Given the description of an element on the screen output the (x, y) to click on. 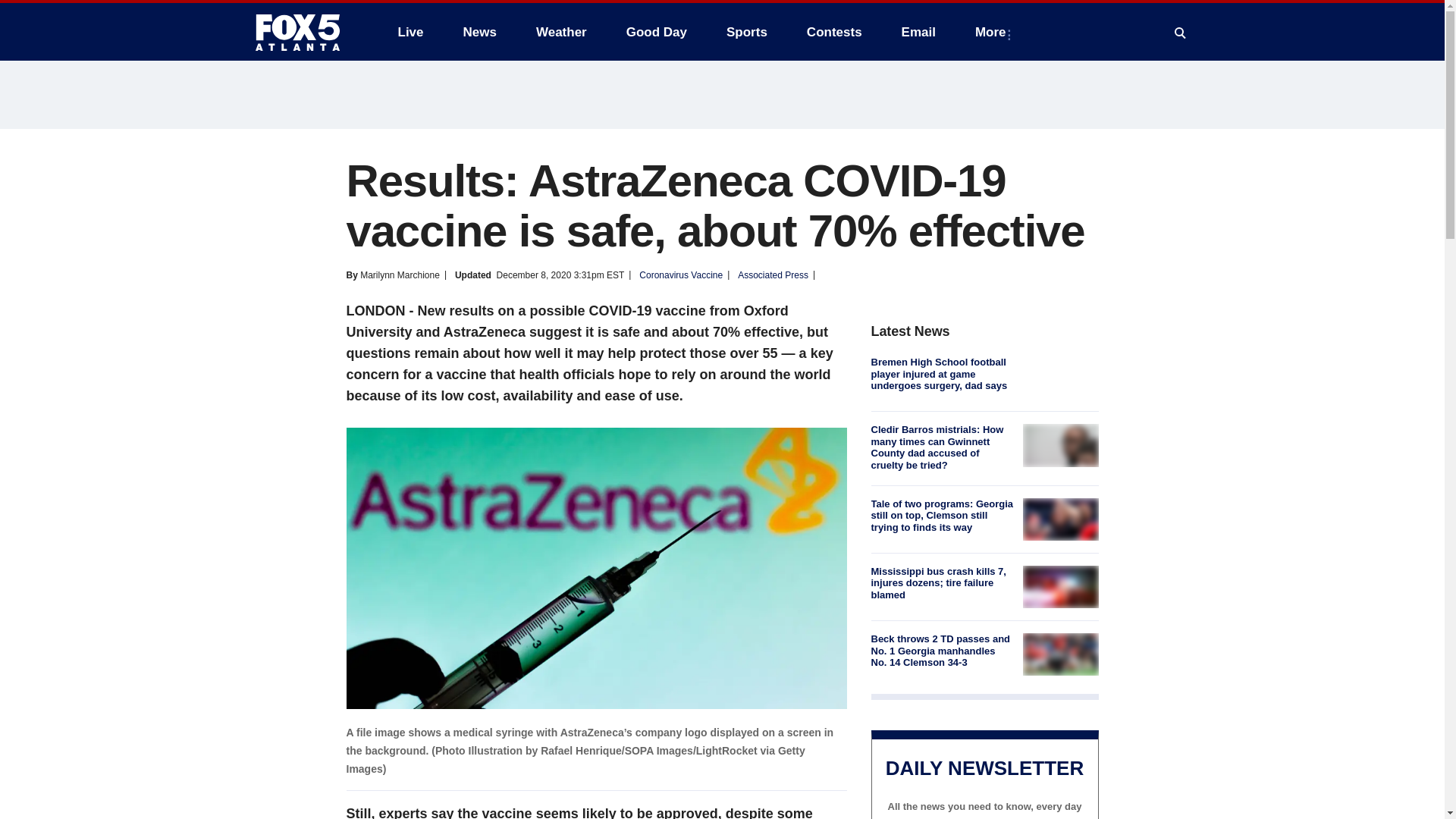
Live (410, 32)
Good Day (656, 32)
More (993, 32)
Sports (746, 32)
Email (918, 32)
Weather (561, 32)
News (479, 32)
Contests (834, 32)
